Given the description of an element on the screen output the (x, y) to click on. 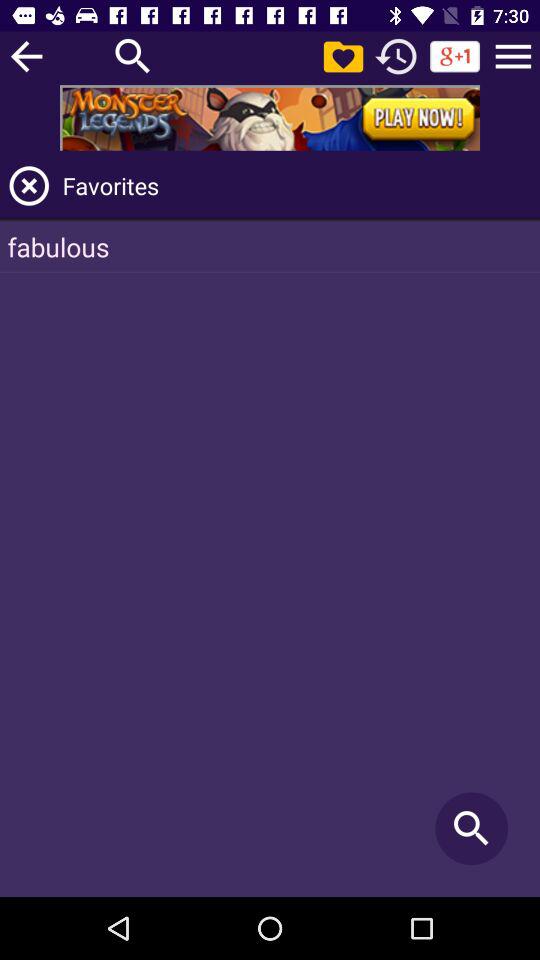
navigate to menu (513, 56)
